Given the description of an element on the screen output the (x, y) to click on. 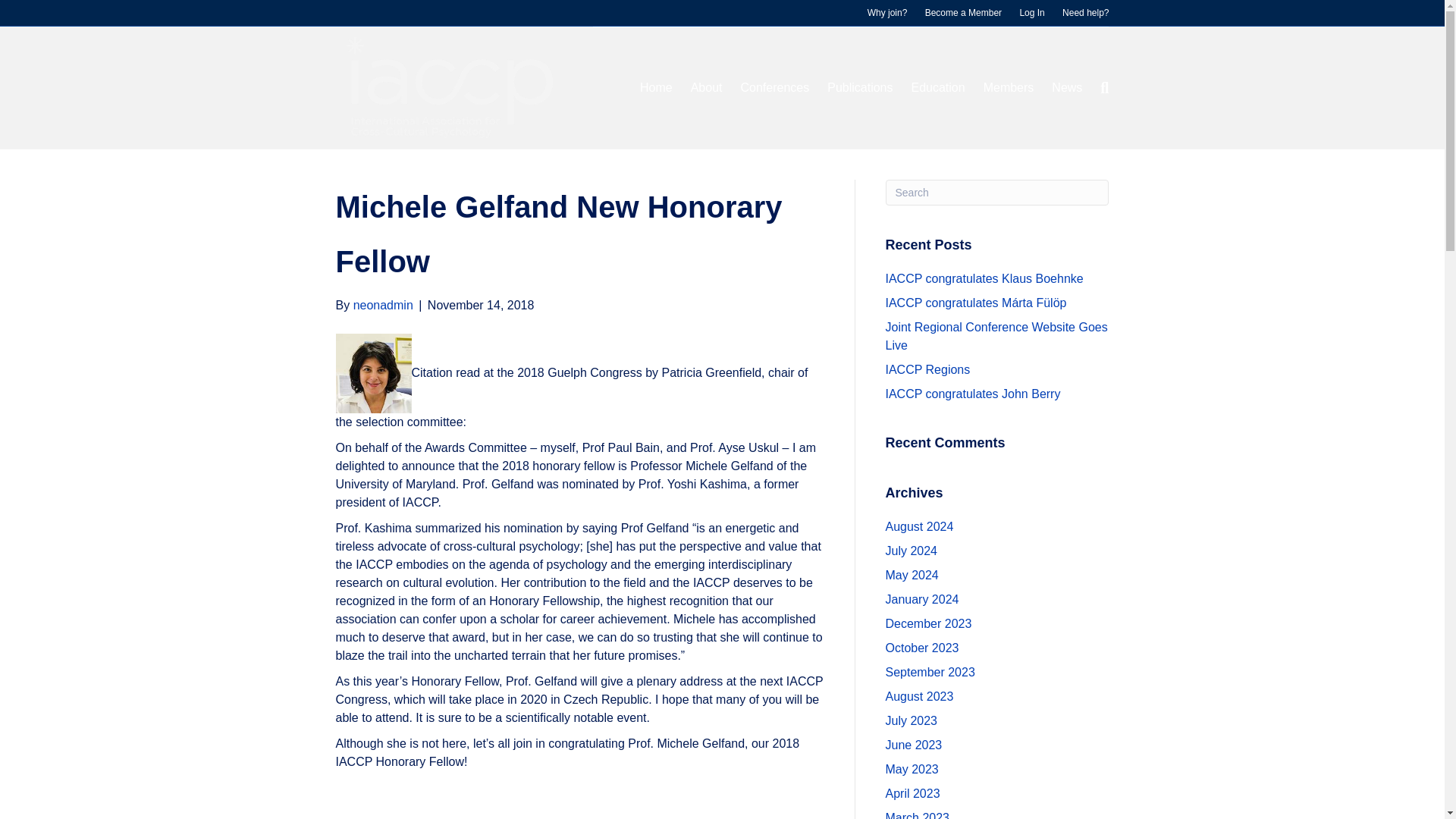
Members (1008, 87)
Publications (859, 87)
Education (937, 87)
Why join? (887, 13)
Type and press Enter to search. (997, 192)
Become a Member (963, 13)
Conferences (774, 87)
Log In (1031, 13)
Need help? (1085, 13)
Home (655, 87)
